Given the description of an element on the screen output the (x, y) to click on. 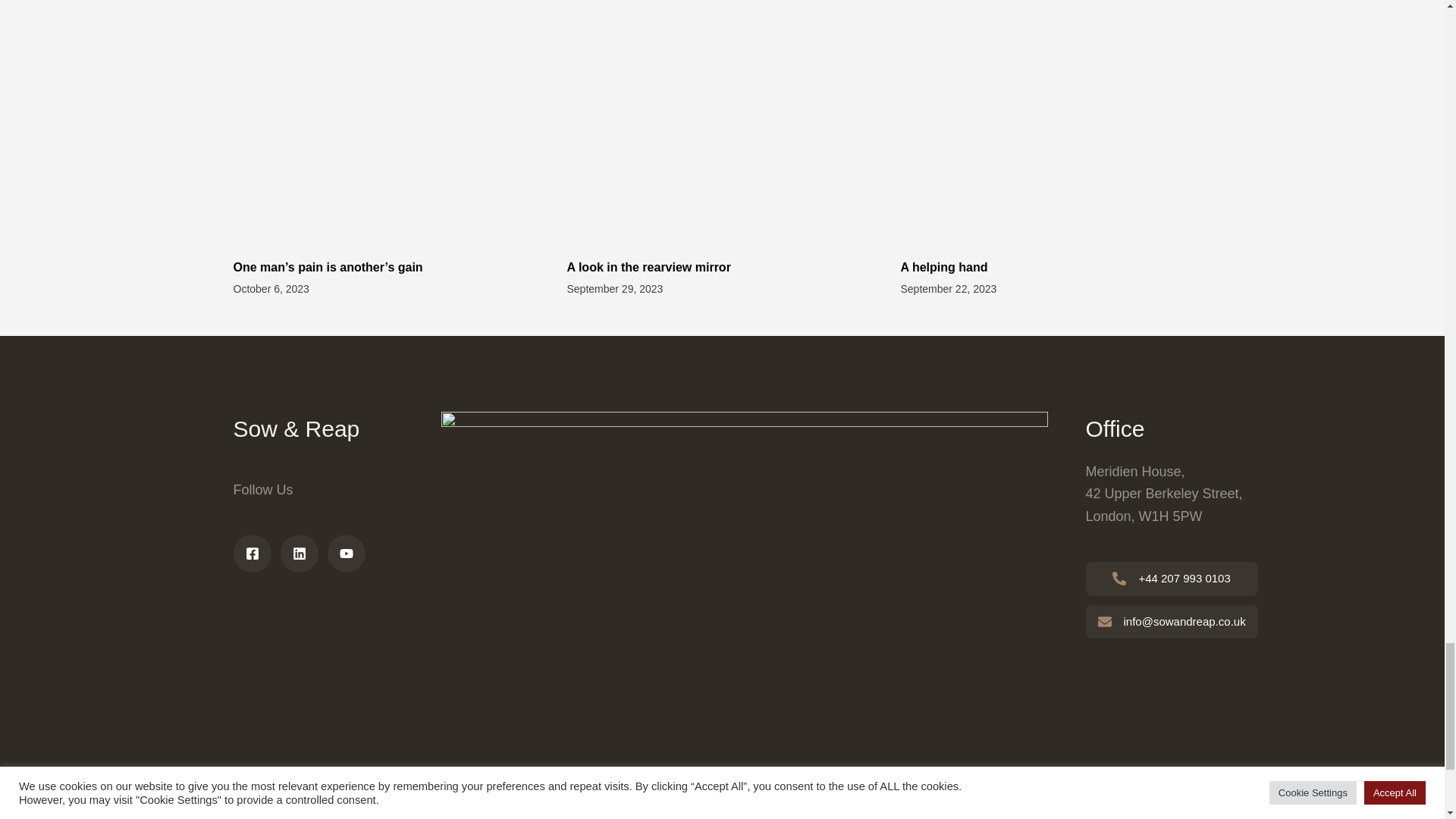
A helping hand (944, 267)
A look in the rearview mirror   (652, 267)
